Given the description of an element on the screen output the (x, y) to click on. 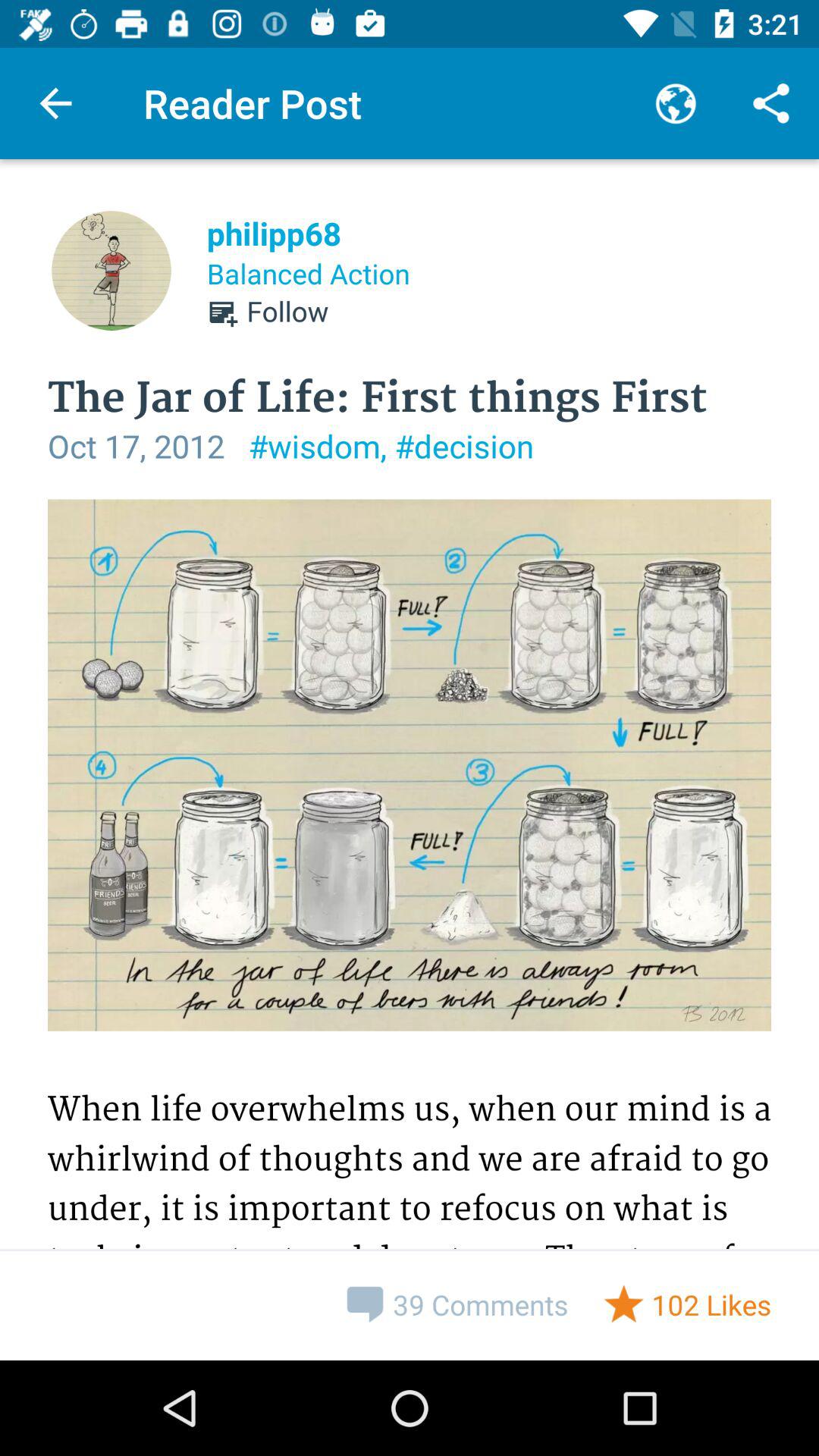
open profile (111, 270)
